Given the description of an element on the screen output the (x, y) to click on. 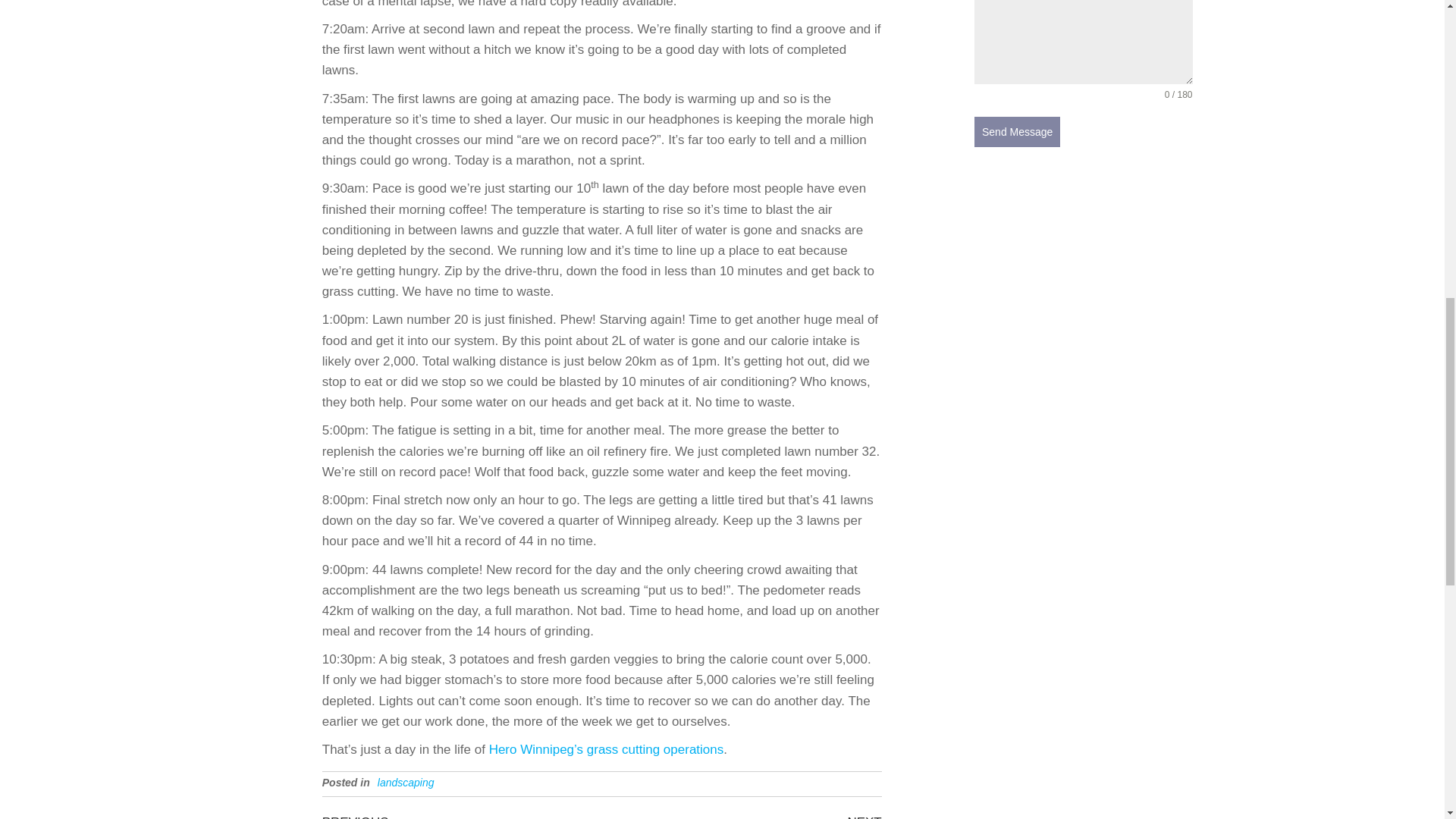
landscaping (405, 782)
Send Message (461, 815)
snow-clearing (1016, 132)
